Given the description of an element on the screen output the (x, y) to click on. 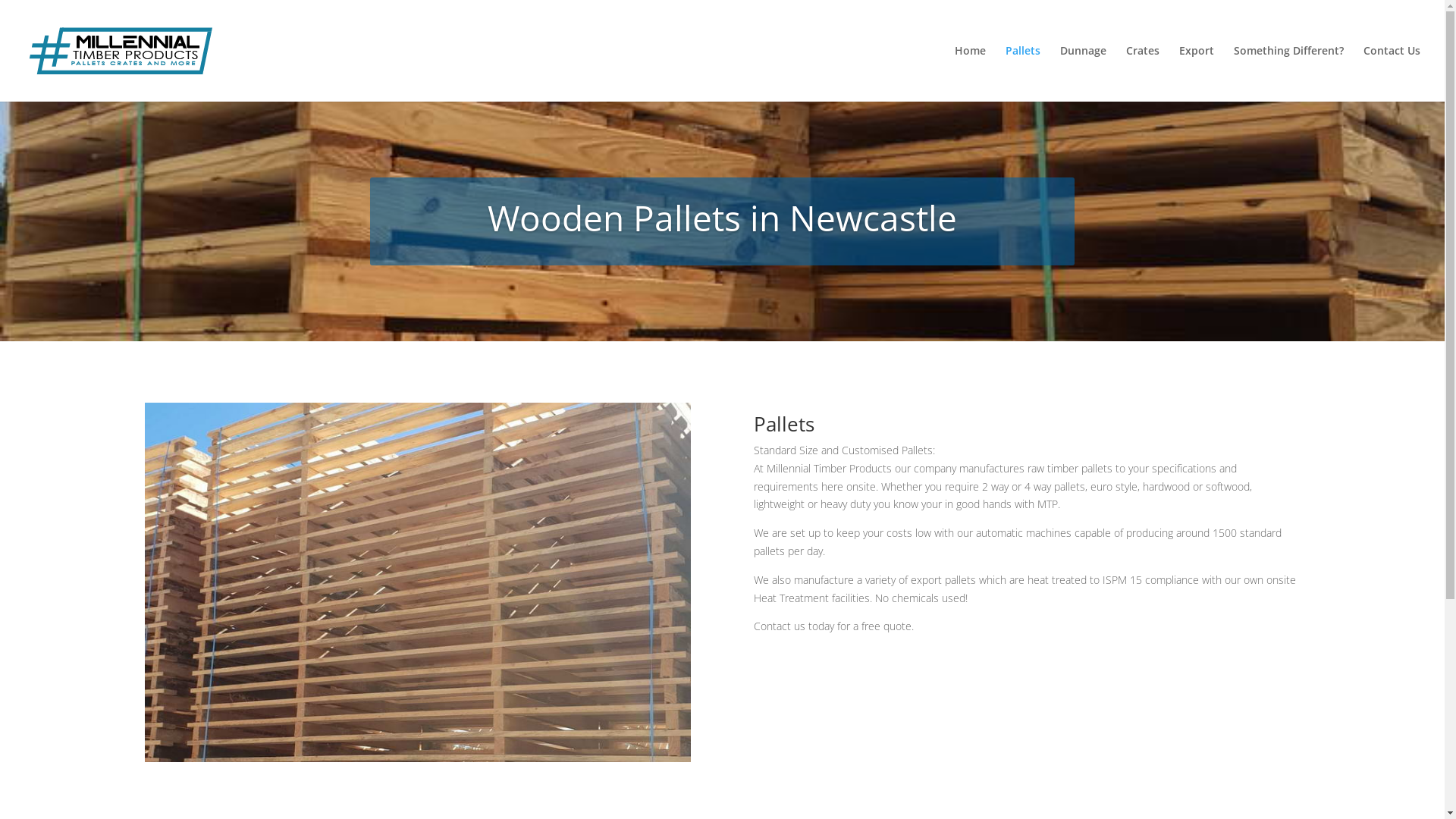
Pallets Element type: text (1022, 73)
Dunnage Element type: text (1083, 73)
Something Different? Element type: text (1288, 73)
Crates Element type: text (1142, 73)
Contact Us Element type: text (1391, 73)
Export Element type: text (1196, 73)
Home Element type: text (969, 73)
